Given the description of an element on the screen output the (x, y) to click on. 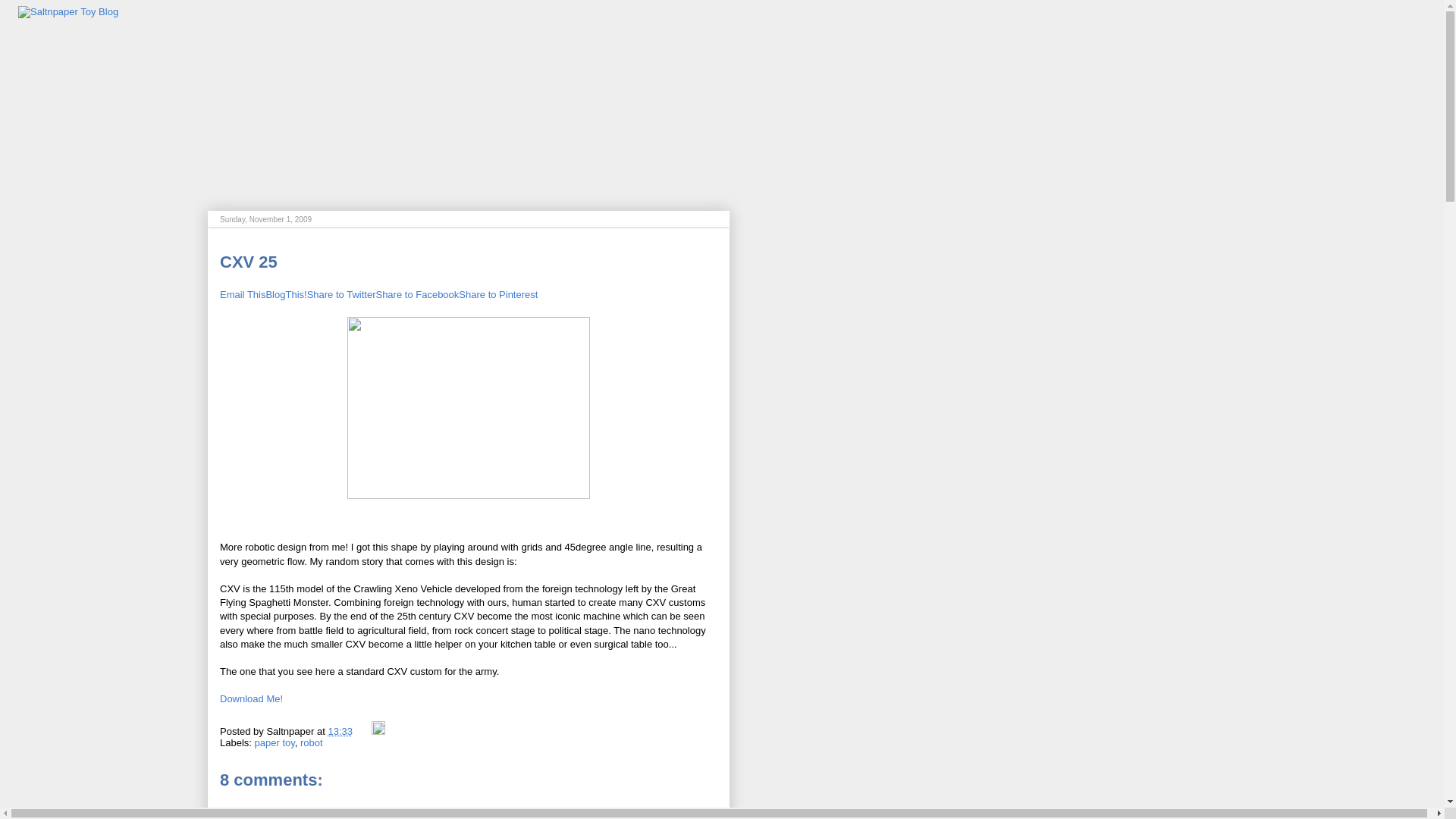
CXV 25 (248, 261)
Share to Facebook (416, 294)
Share to Pinterest (497, 294)
BlogThis! (284, 294)
paper toy (274, 742)
Share to Pinterest (497, 294)
Unknown (232, 816)
BlogThis! (284, 294)
Email Post (363, 731)
robot (311, 742)
Email This (241, 294)
Download Me! (250, 698)
Email This (241, 294)
Share to Facebook (416, 294)
13:33 (339, 731)
